Given the description of an element on the screen output the (x, y) to click on. 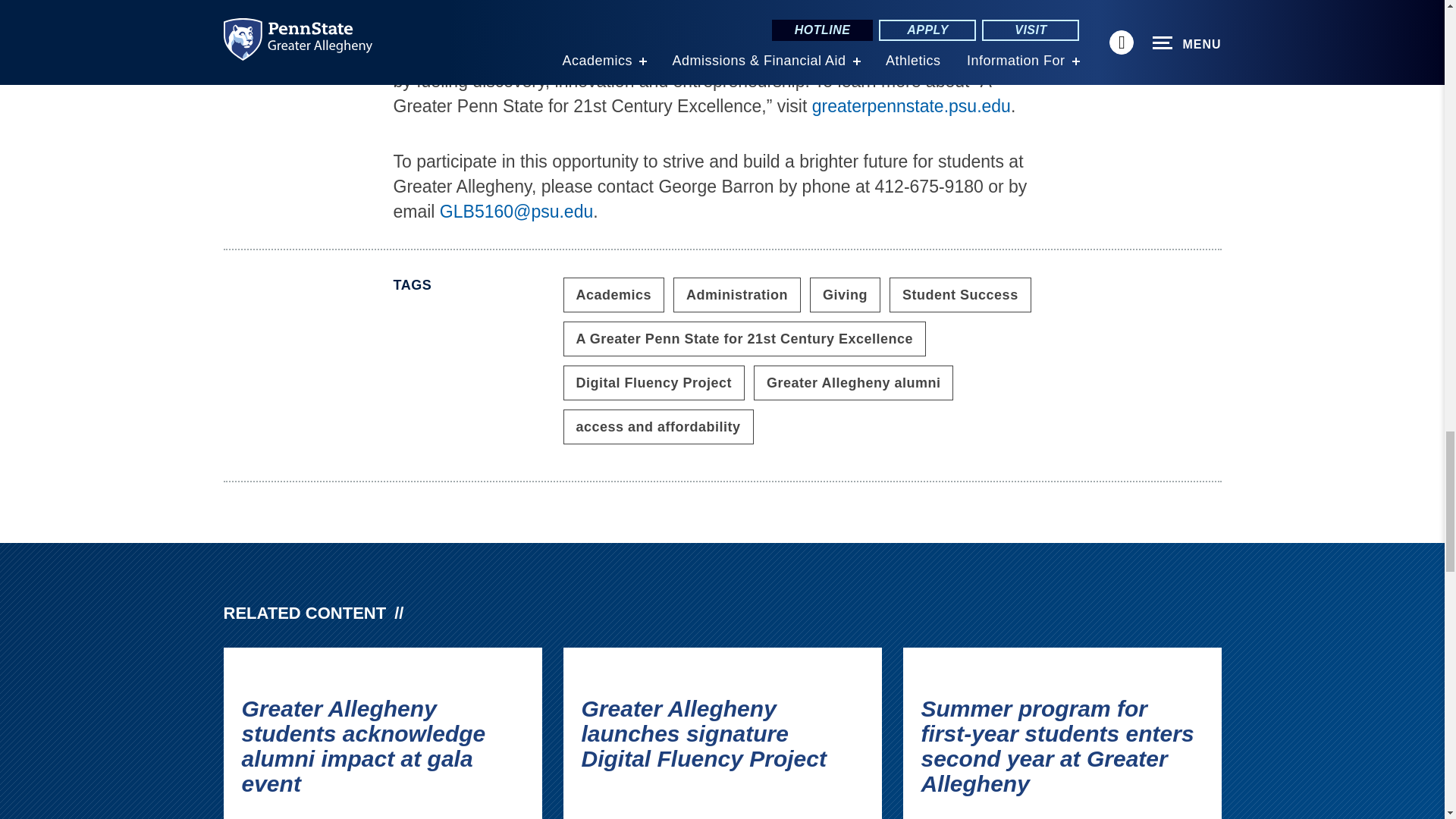
Content tagged with Giving (844, 294)
Content tagged with Student Success (959, 294)
Content tagged with Greater Allegheny alumni (853, 382)
Content tagged with Digital Fluency Project (653, 382)
Content tagged with Administration (736, 294)
Content tagged with access and affordability (657, 426)
Content tagged with Academics (612, 294)
